Given the description of an element on the screen output the (x, y) to click on. 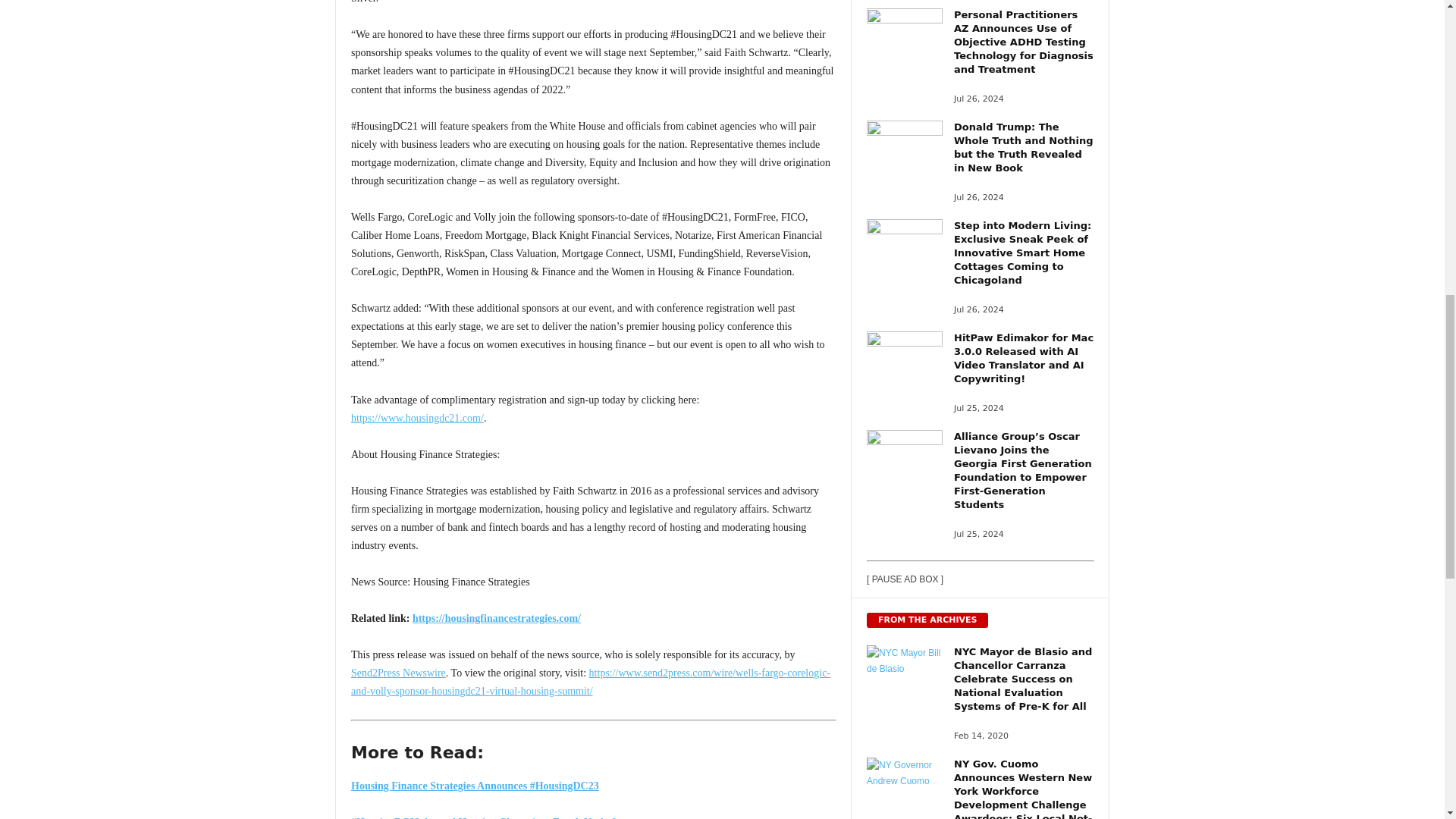
Send2Press Newswire (397, 672)
